Given the description of an element on the screen output the (x, y) to click on. 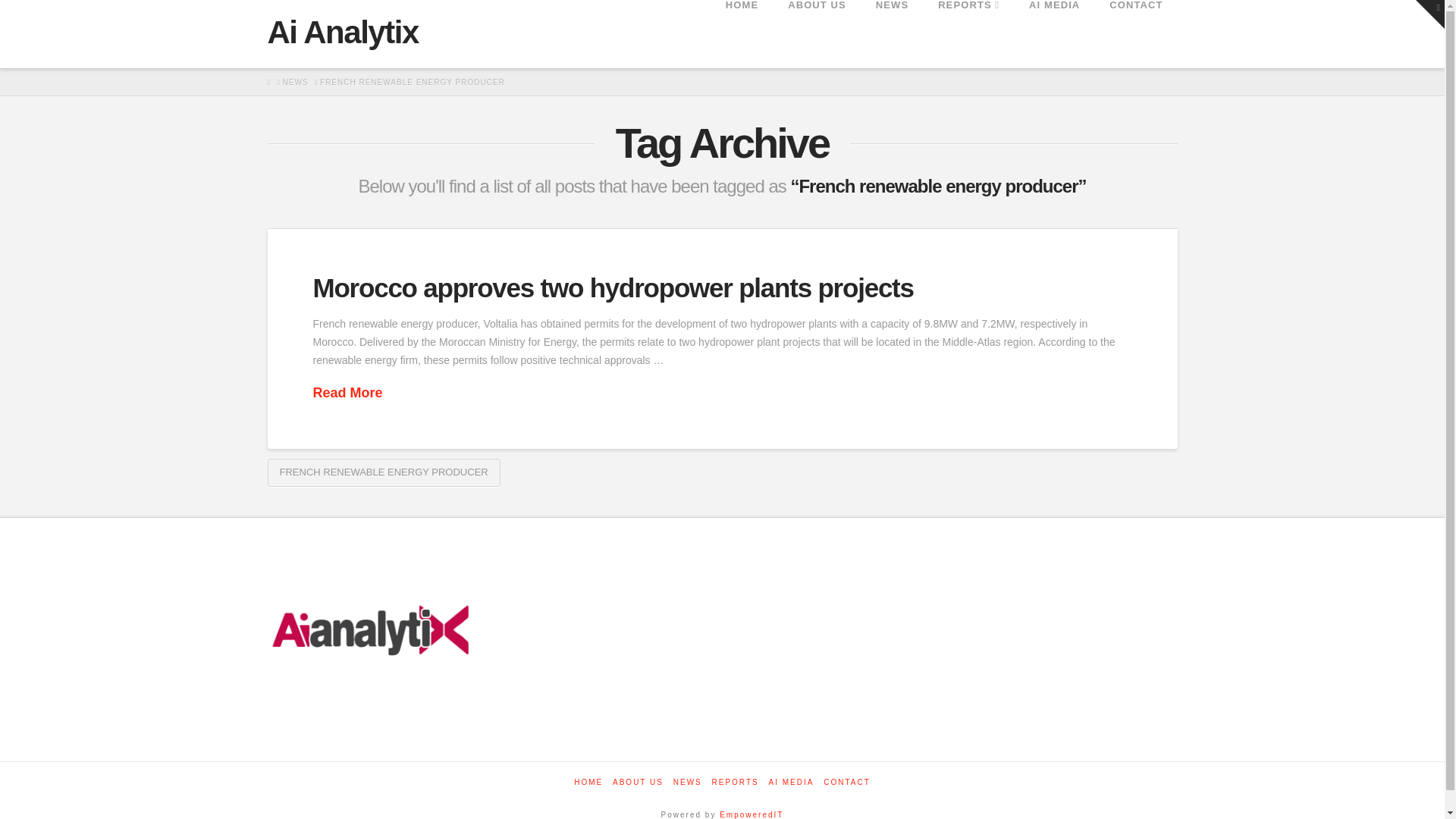
REPORTS (968, 33)
NEWS (891, 33)
HOME (741, 33)
ABOUT US (816, 33)
You Are Here (412, 81)
Ai Analytix (341, 32)
